Given the description of an element on the screen output the (x, y) to click on. 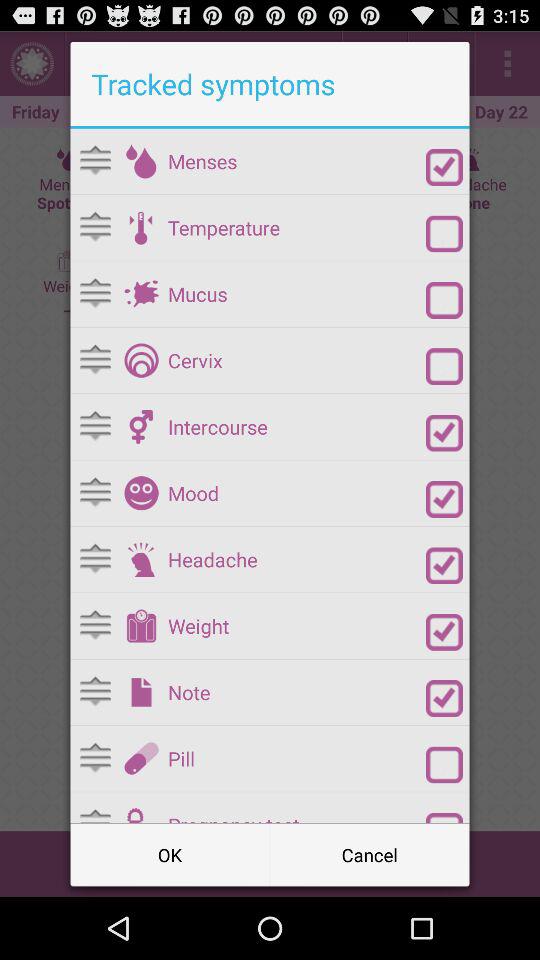
click the app above the weight item (296, 559)
